Given the description of an element on the screen output the (x, y) to click on. 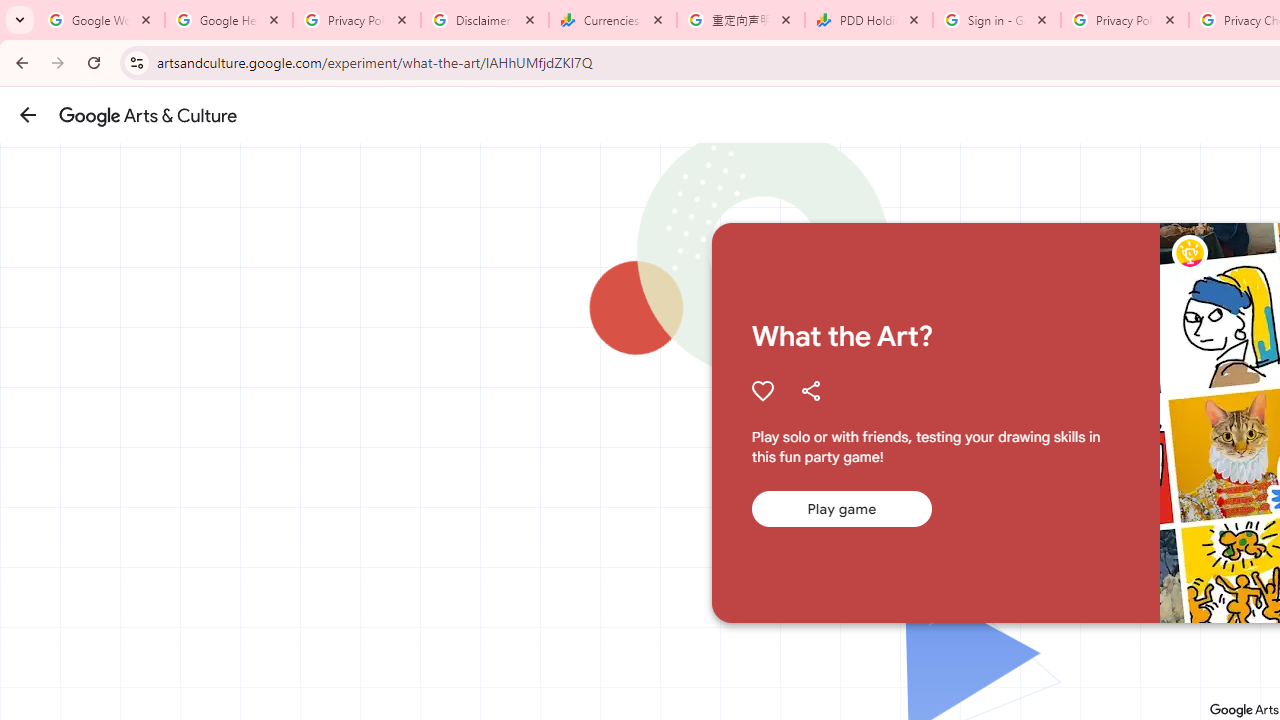
Authenticate to favorite this asset. (762, 390)
Close (1169, 19)
Google Arts & Culture (148, 115)
Play game (841, 509)
